Given the description of an element on the screen output the (x, y) to click on. 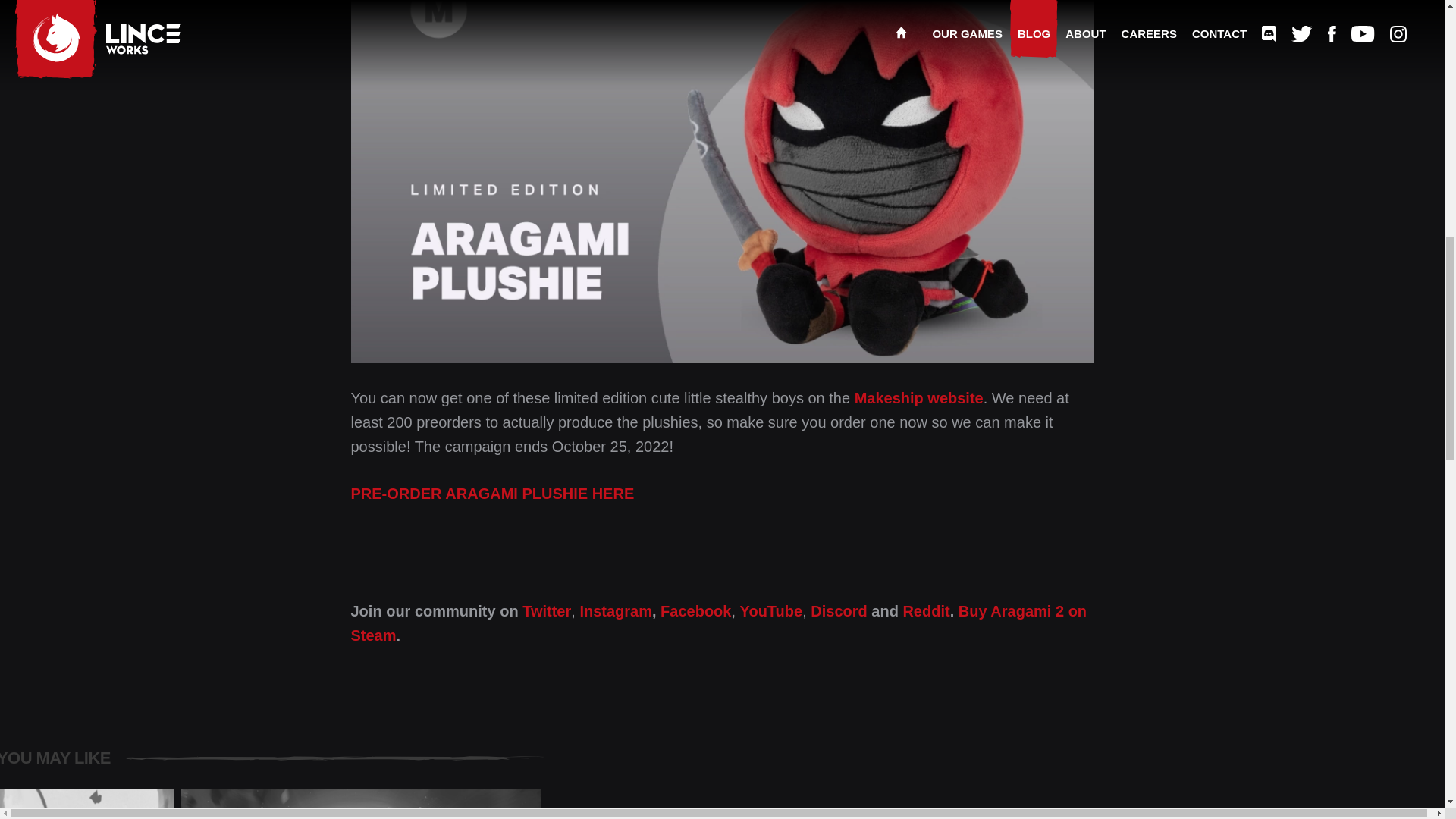
PRE-ORDER ARAGAMI PLUSHIE HERE (491, 493)
Facebook (695, 610)
Instagram (615, 610)
Twitter (360, 803)
Discord (546, 610)
YouTube (838, 610)
Buy Aragami 2 on Steam (771, 610)
Reddit (718, 621)
Makeship website (925, 610)
